Given the description of an element on the screen output the (x, y) to click on. 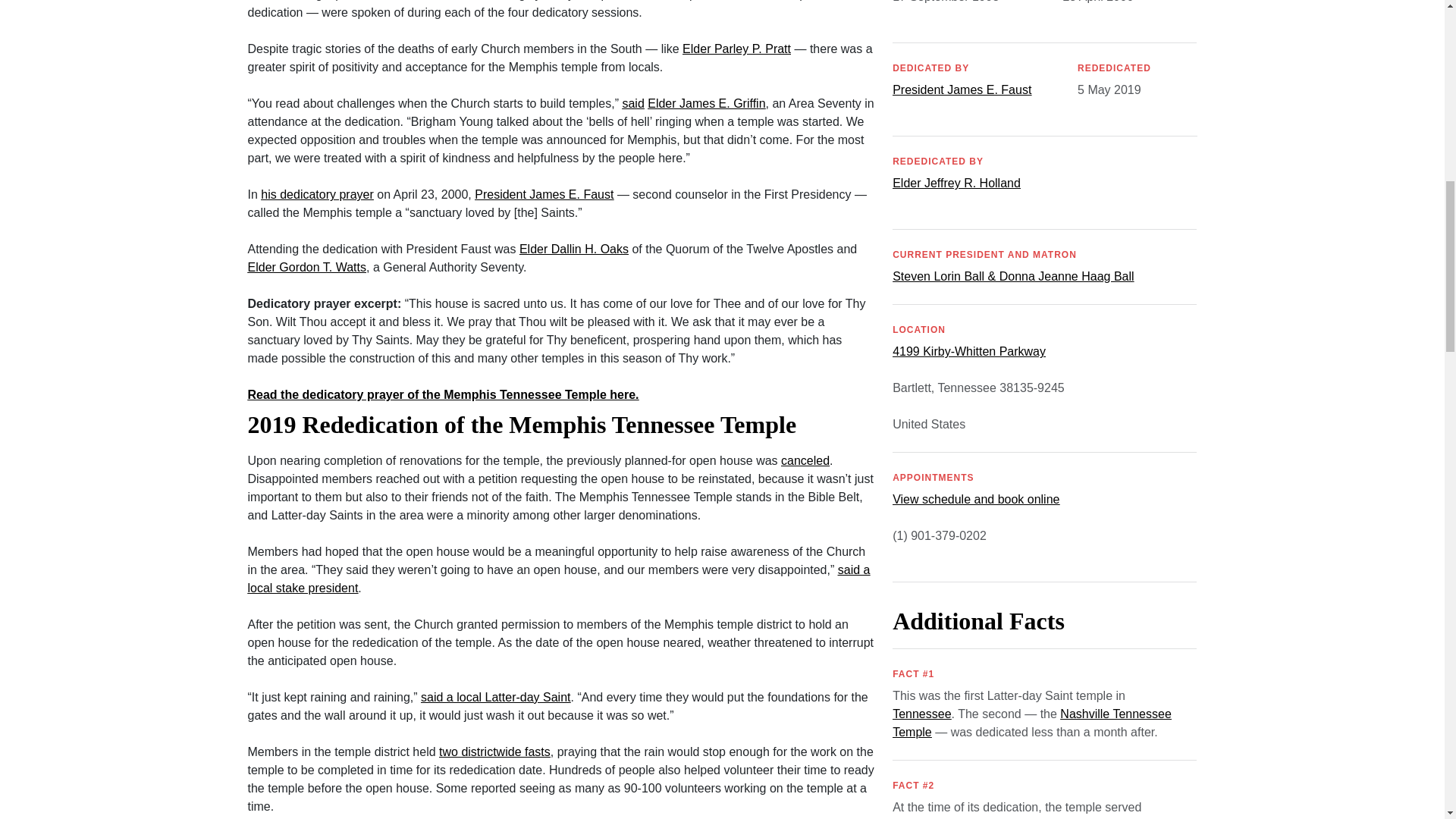
his dedicatory prayer (317, 194)
Elder Dallin H. Oaks (573, 248)
said (632, 103)
canceled (804, 460)
said a local Latter-day Saint (495, 697)
two districtwide fasts (494, 751)
Elder Gordon T. Watts (306, 267)
said a local stake president (558, 578)
President James E. Faust (543, 194)
Elder Parley P. Pratt (736, 48)
Elder James E. Griffin (706, 103)
